Given the description of an element on the screen output the (x, y) to click on. 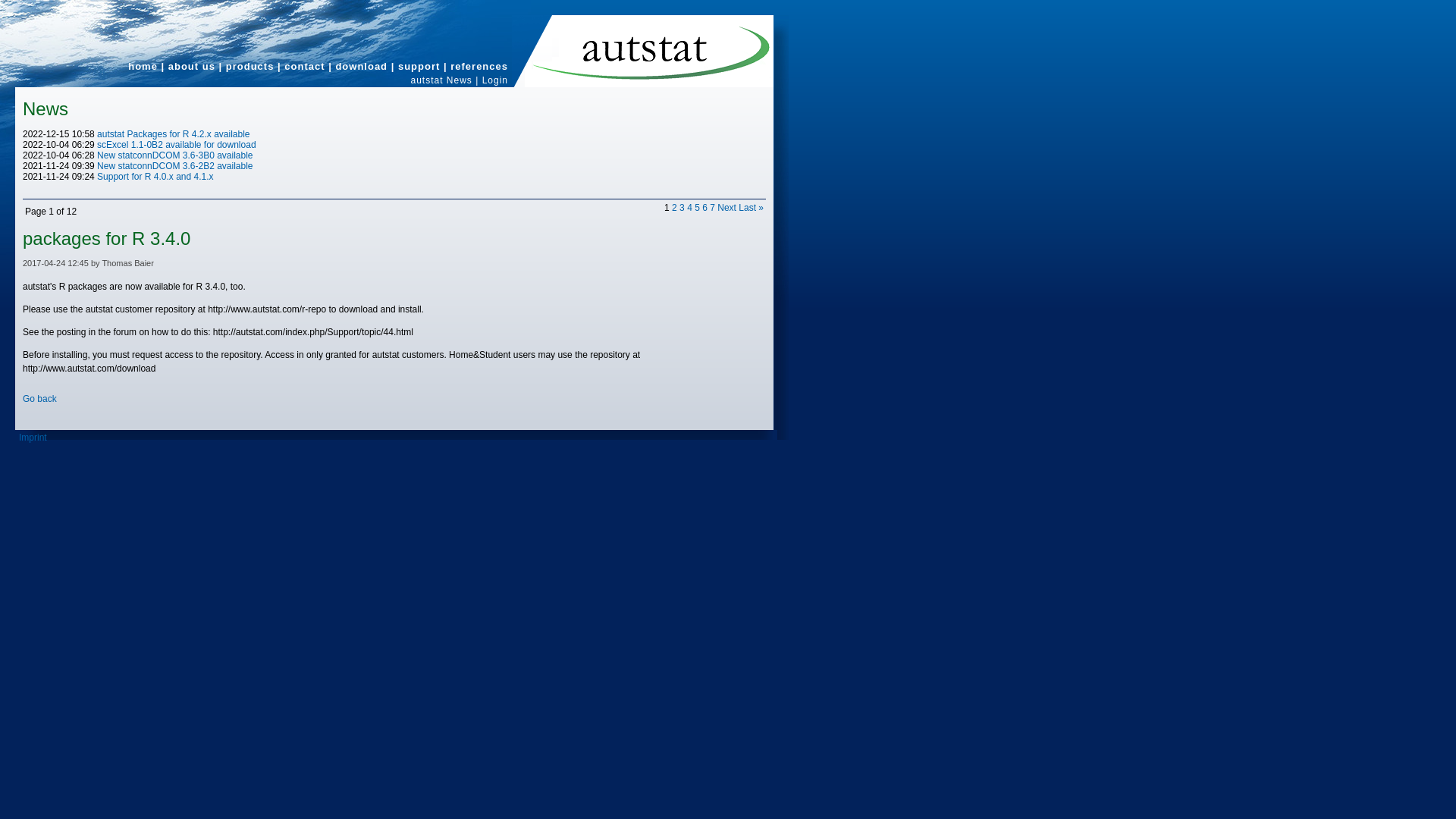
products (250, 66)
New statconnDCOM 3.6-3B0 available (174, 154)
Login (494, 80)
Support for R 4.0.x and 4.1.x (154, 176)
Welcome (142, 66)
support (418, 66)
Read the article: New statconnDCOM 3.6-2B2 available (174, 165)
download (360, 66)
Next (726, 207)
Support (418, 66)
